Given the description of an element on the screen output the (x, y) to click on. 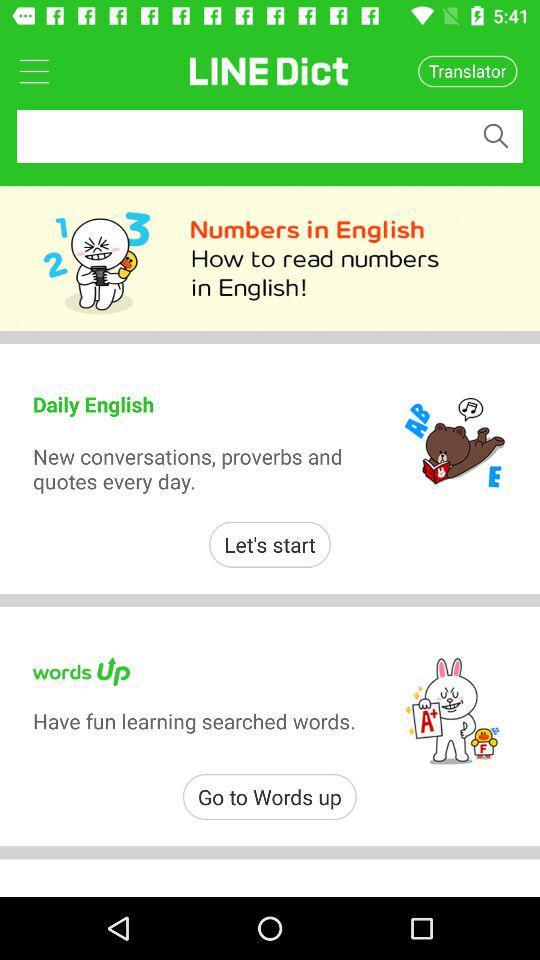
turn off new conversations proverbs (197, 468)
